Given the description of an element on the screen output the (x, y) to click on. 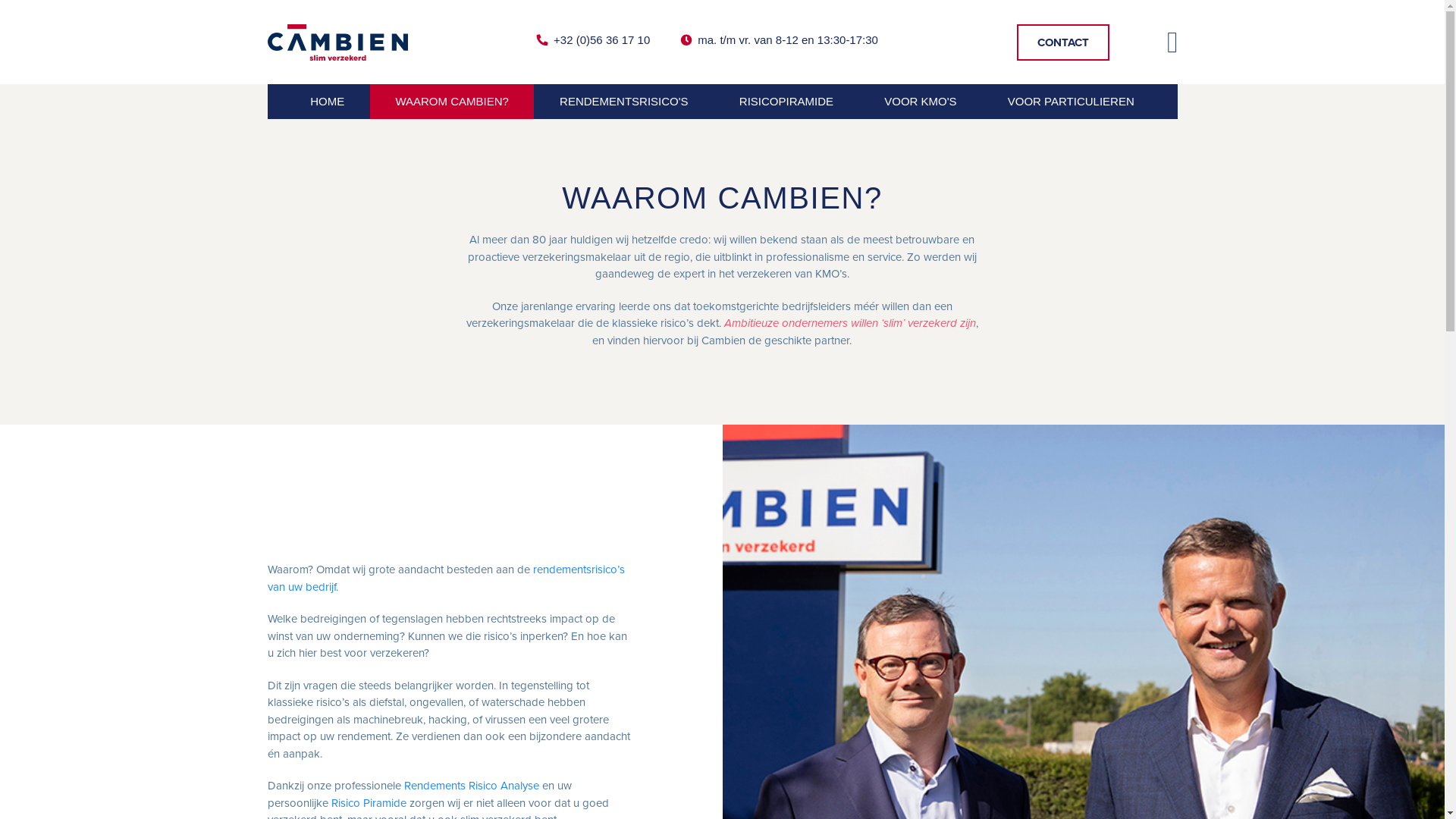
HOME Element type: text (327, 101)
+32 (0)56 36 17 10 Element type: text (592, 40)
CONTACT Element type: text (1062, 42)
VOOR PARTICULIEREN Element type: text (1070, 101)
RENDEMENTSRISICO'S Element type: text (623, 101)
VOOR KMO'S Element type: text (920, 101)
WAAROM CAMBIEN? Element type: text (451, 101)
Risico Piramide Element type: text (367, 802)
RISICOPIRAMIDE Element type: text (786, 101)
Rendements Risico Analyse Element type: text (470, 785)
